Given the description of an element on the screen output the (x, y) to click on. 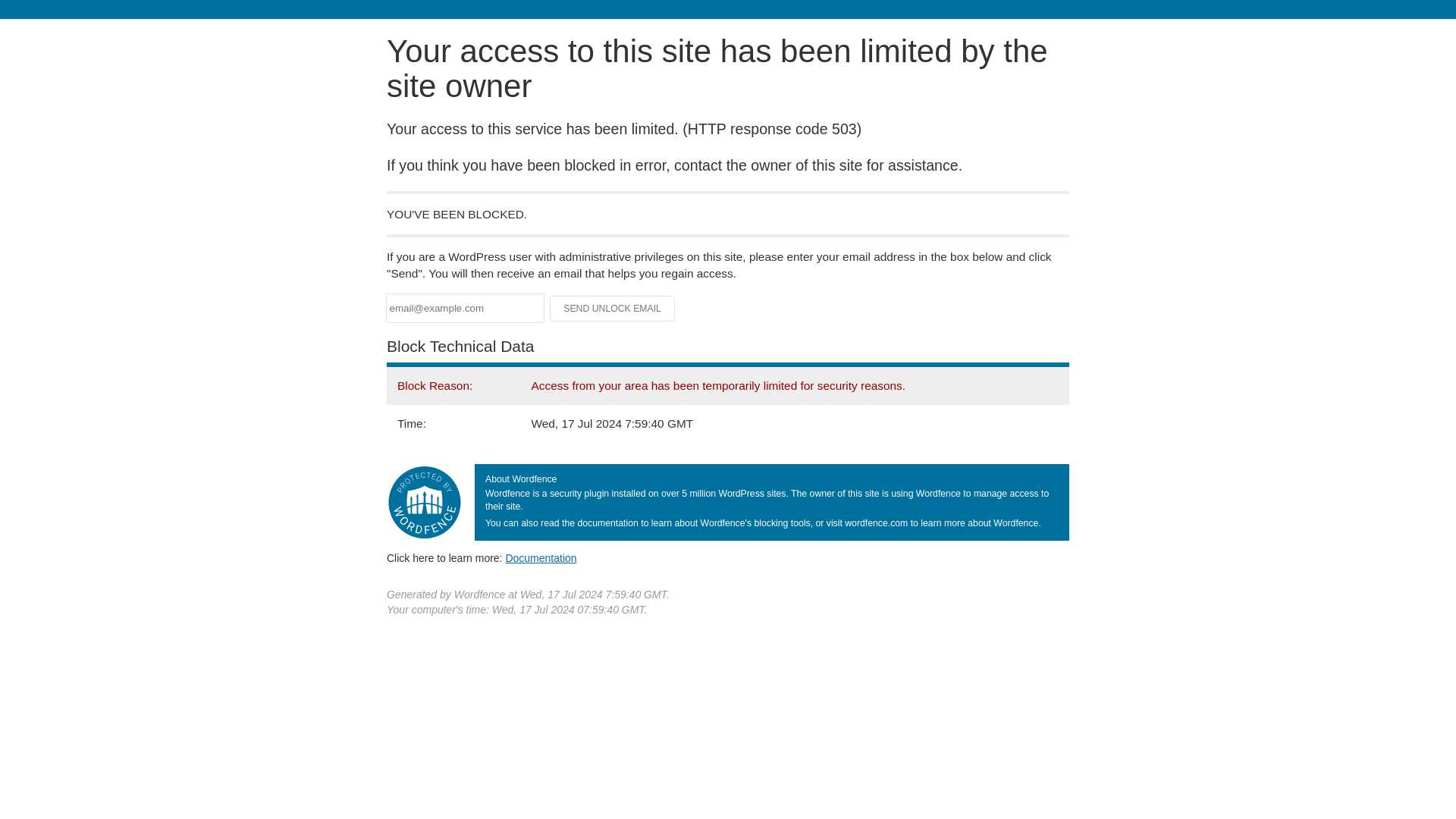
Send Unlock Email (612, 308)
Documentation (540, 558)
Send Unlock Email (612, 308)
